Given the description of an element on the screen output the (x, y) to click on. 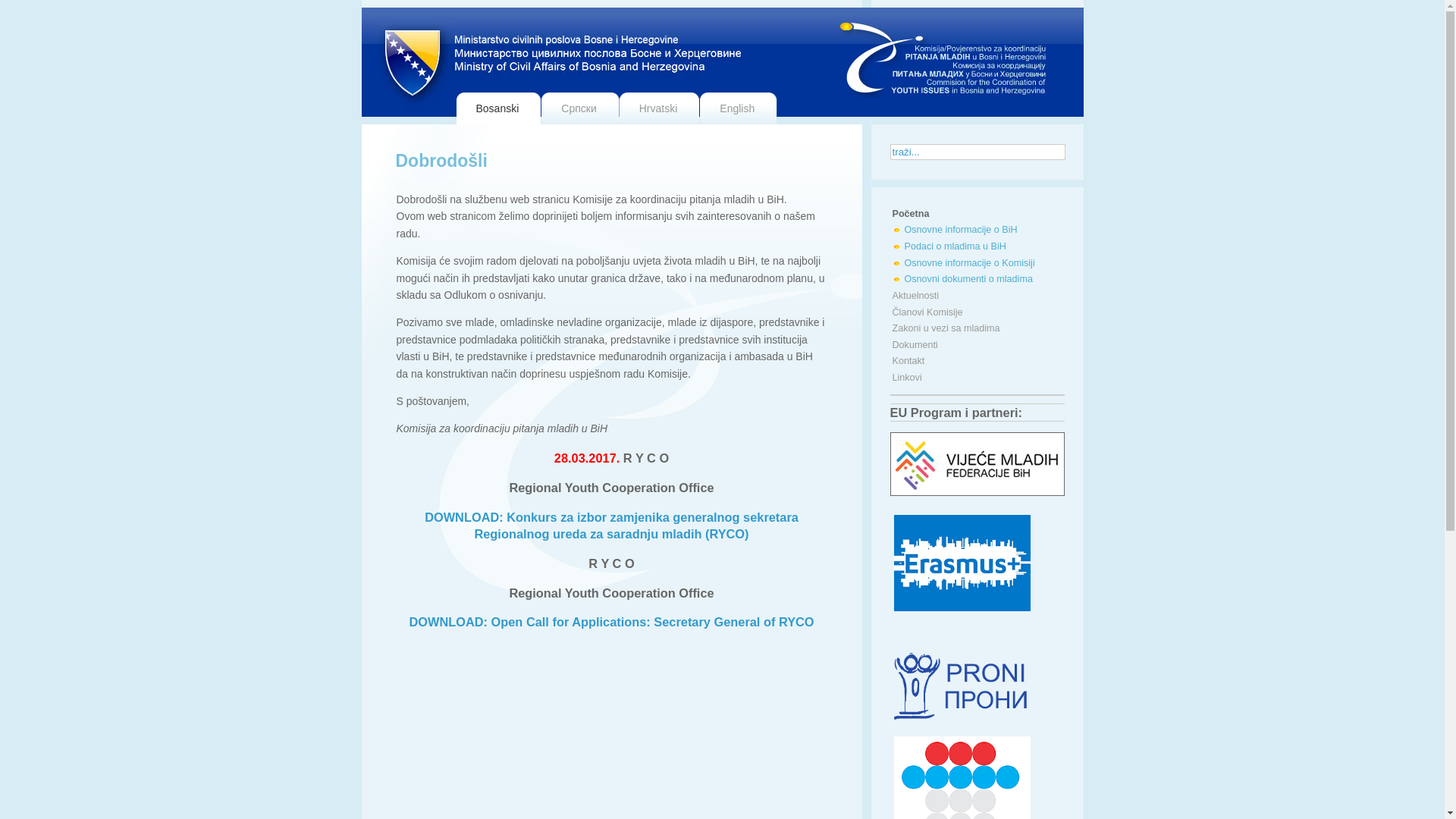
Aktuelnosti Element type: text (977, 296)
Dokumenti Element type: text (977, 345)
Osnovni dokumenti o mladima Element type: text (978, 279)
Podaci o mladima u BiH Element type: text (978, 246)
English Element type: text (738, 108)
Bosanski Element type: text (499, 108)
Linkovi Element type: text (977, 378)
Zakoni u vezi sa mladima Element type: text (977, 328)
proni-logo.png Element type: hover (961, 685)
Osnovne informacije o Komisiji Element type: text (978, 263)
Kontakt Element type: text (977, 361)
logo-erasmusplus.png Element type: hover (961, 562)
Osnovne informacije o BiH Element type: text (978, 230)
Hrvatski Element type: text (659, 108)
